Given the description of an element on the screen output the (x, y) to click on. 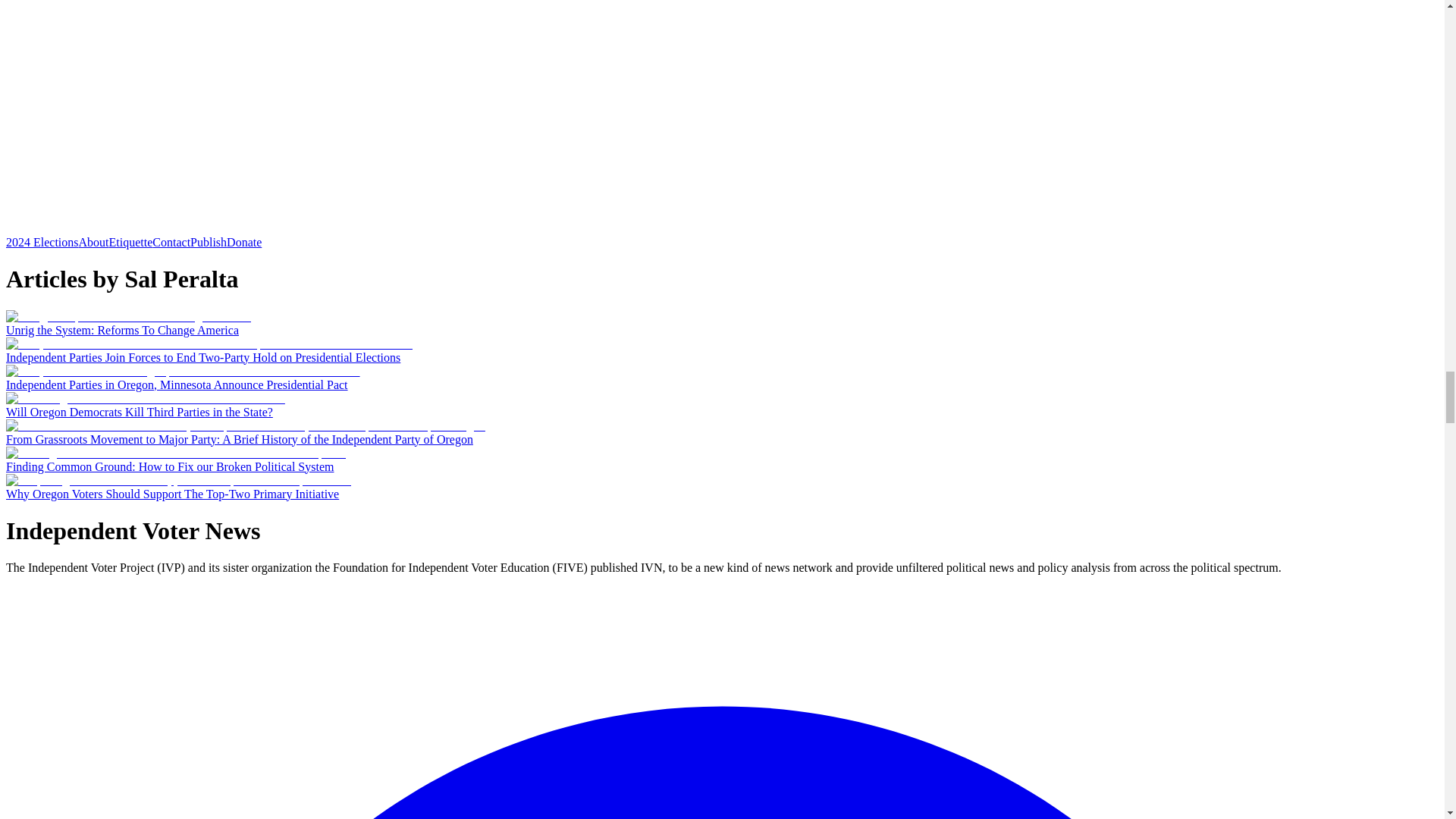
Donate (244, 241)
Publish (208, 241)
Contact (171, 241)
Etiquette (130, 241)
About (93, 241)
Unrig the System: Reforms To Change America (121, 329)
2024 Elections (41, 241)
Will Oregon Democrats Kill Third Parties in the State? (139, 411)
